Given the description of an element on the screen output the (x, y) to click on. 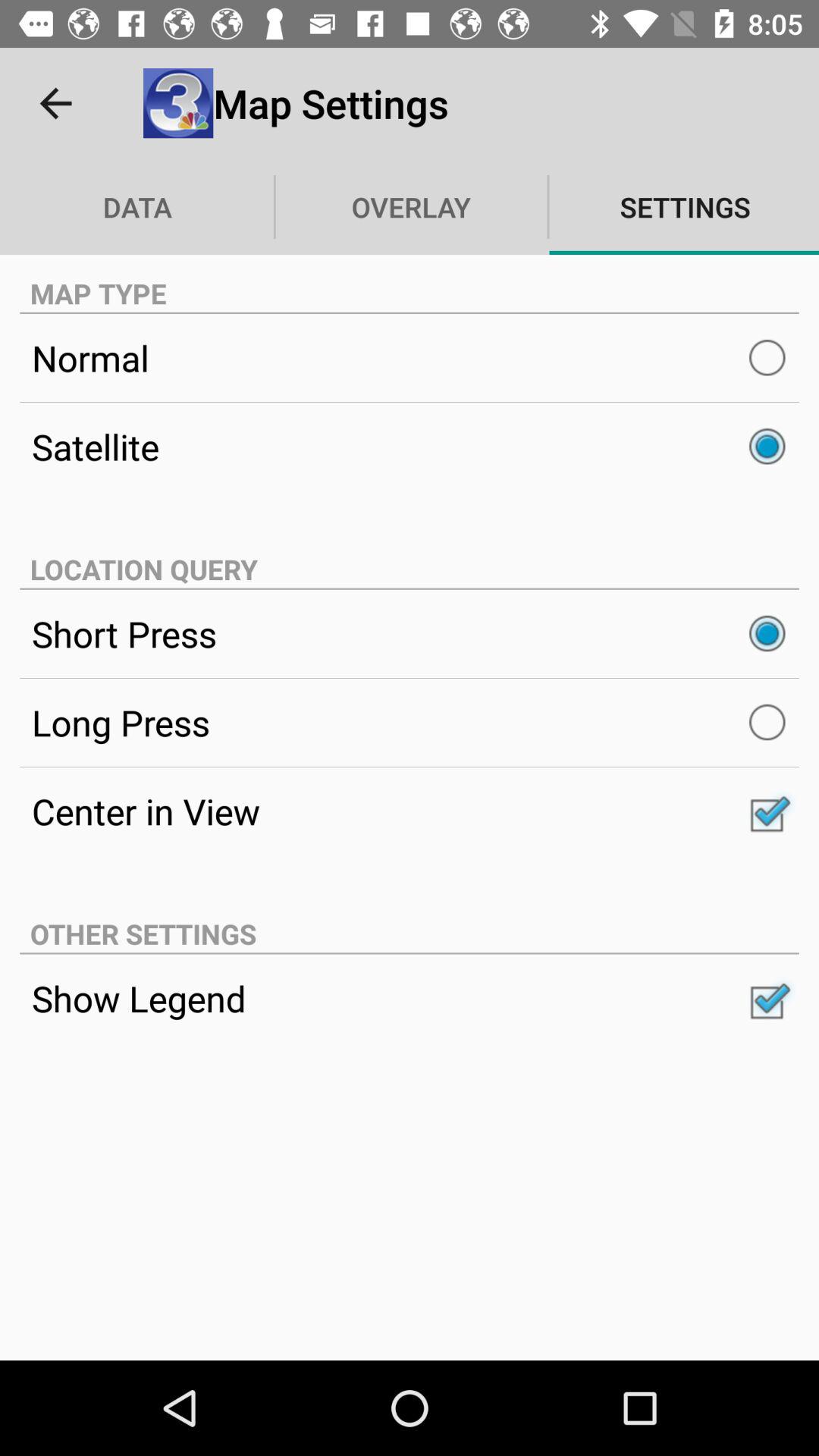
open the satellite item (409, 446)
